Given the description of an element on the screen output the (x, y) to click on. 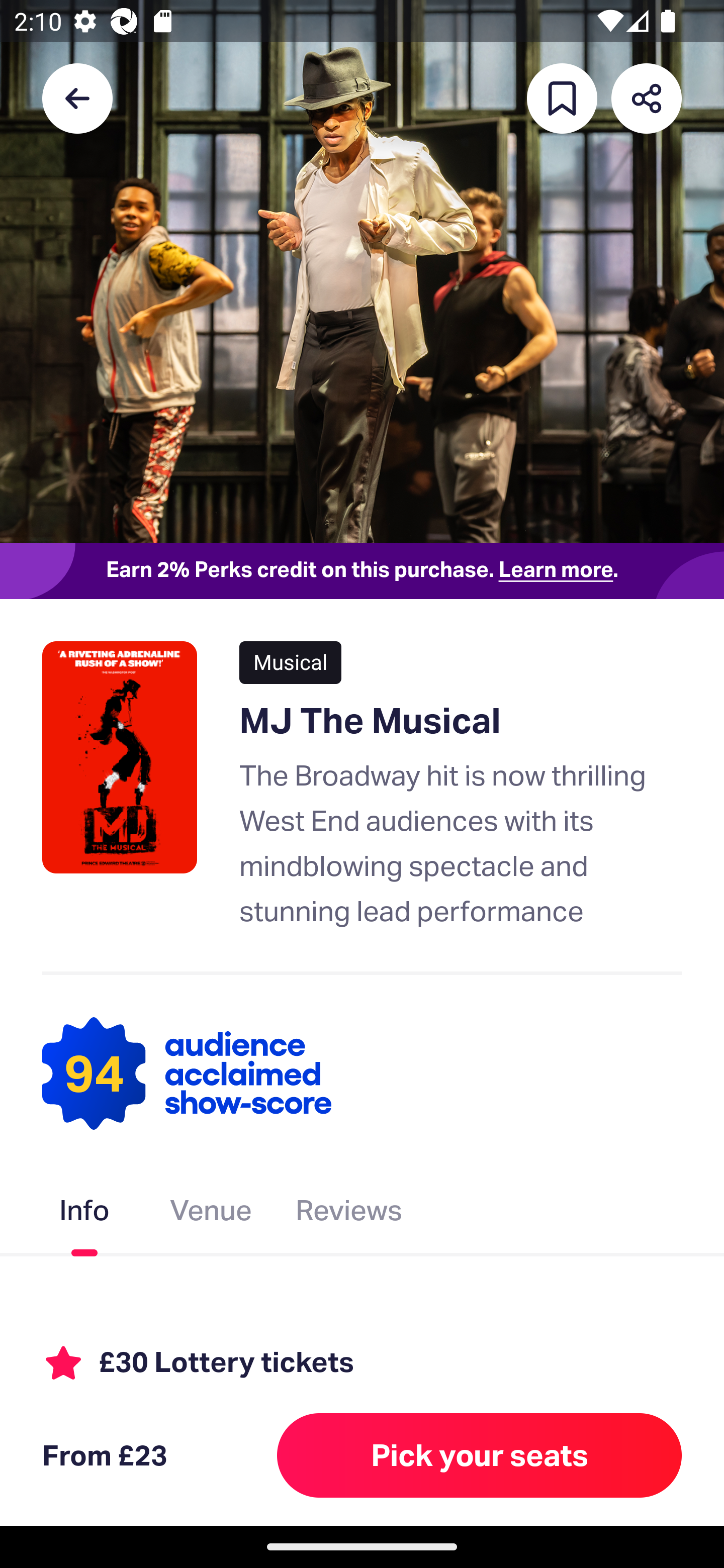
Earn 2% Perks credit on this purchase. Learn more. (362, 570)
Venue (210, 1213)
Reviews (348, 1213)
Pick your seats (479, 1454)
